Given the description of an element on the screen output the (x, y) to click on. 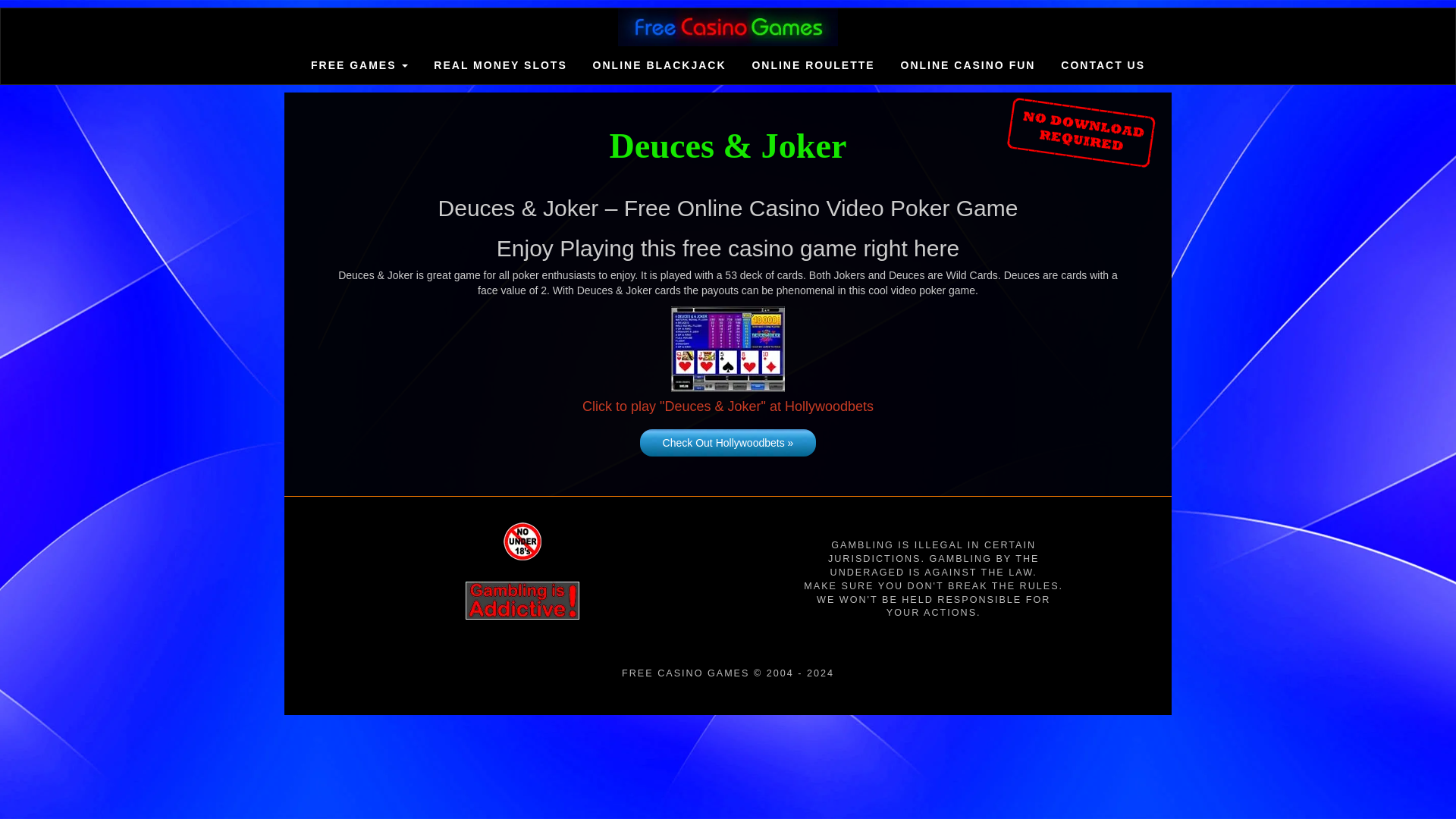
Online Casino Fun (967, 64)
REAL MONEY SLOTS (500, 64)
ONLINE BLACKJACK (659, 64)
Contact Us (1102, 64)
Online Roulette (812, 64)
ONLINE CASINO FUN (967, 64)
FREE GAMES (359, 64)
Real Money Slots (500, 64)
Online Blackjack (659, 64)
FREE GAMES (359, 64)
CONTACT US (1102, 64)
ONLINE ROULETTE (812, 64)
Free Casino Games (727, 26)
